Given the description of an element on the screen output the (x, y) to click on. 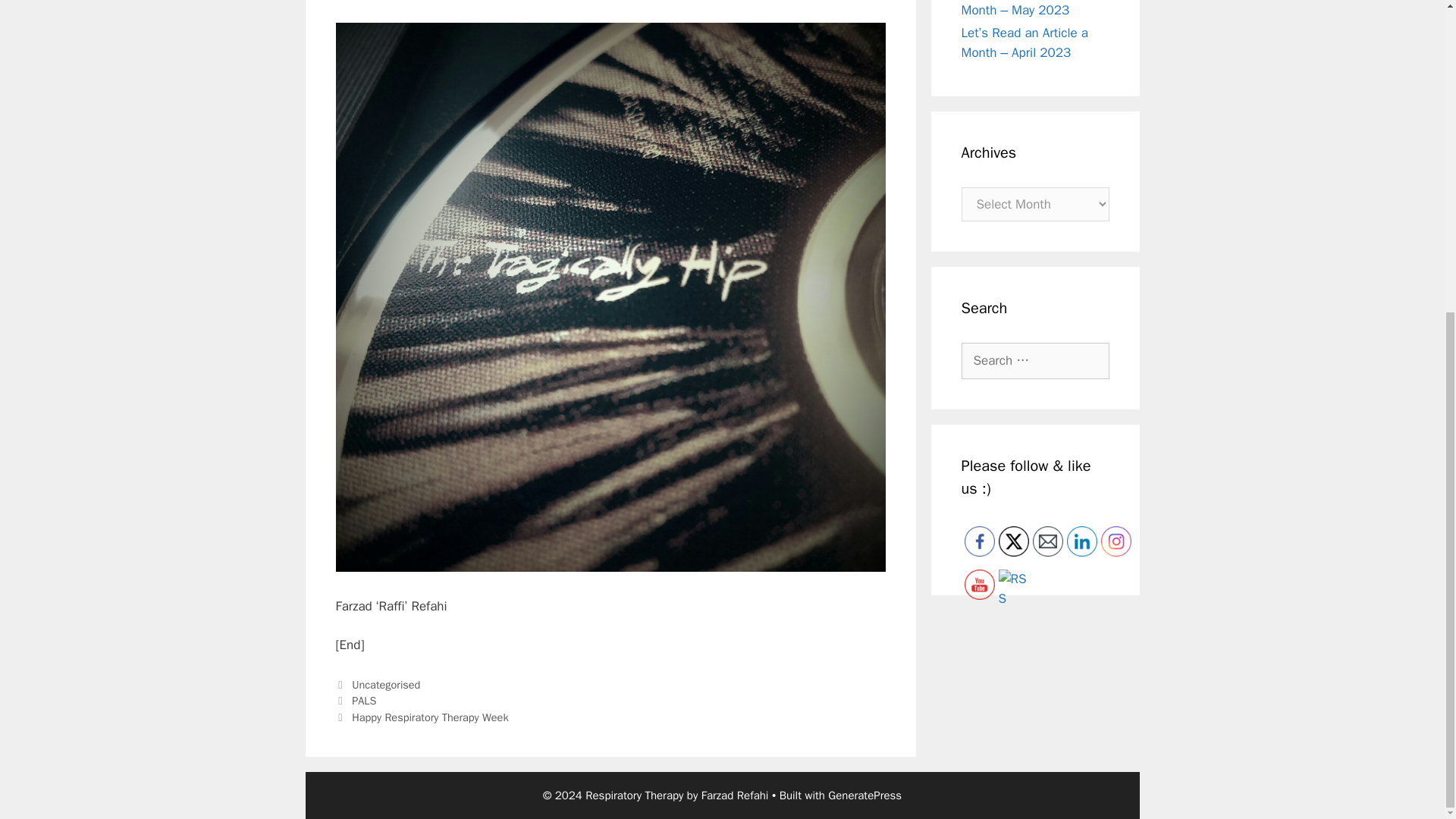
PALS (363, 700)
LinkedIn (1080, 540)
Uncategorised (386, 684)
Follow by Email (1047, 540)
GeneratePress (864, 795)
Search for: (1034, 361)
Facebook (978, 540)
Happy Respiratory Therapy Week (430, 716)
Twitter (1012, 540)
